Given the description of an element on the screen output the (x, y) to click on. 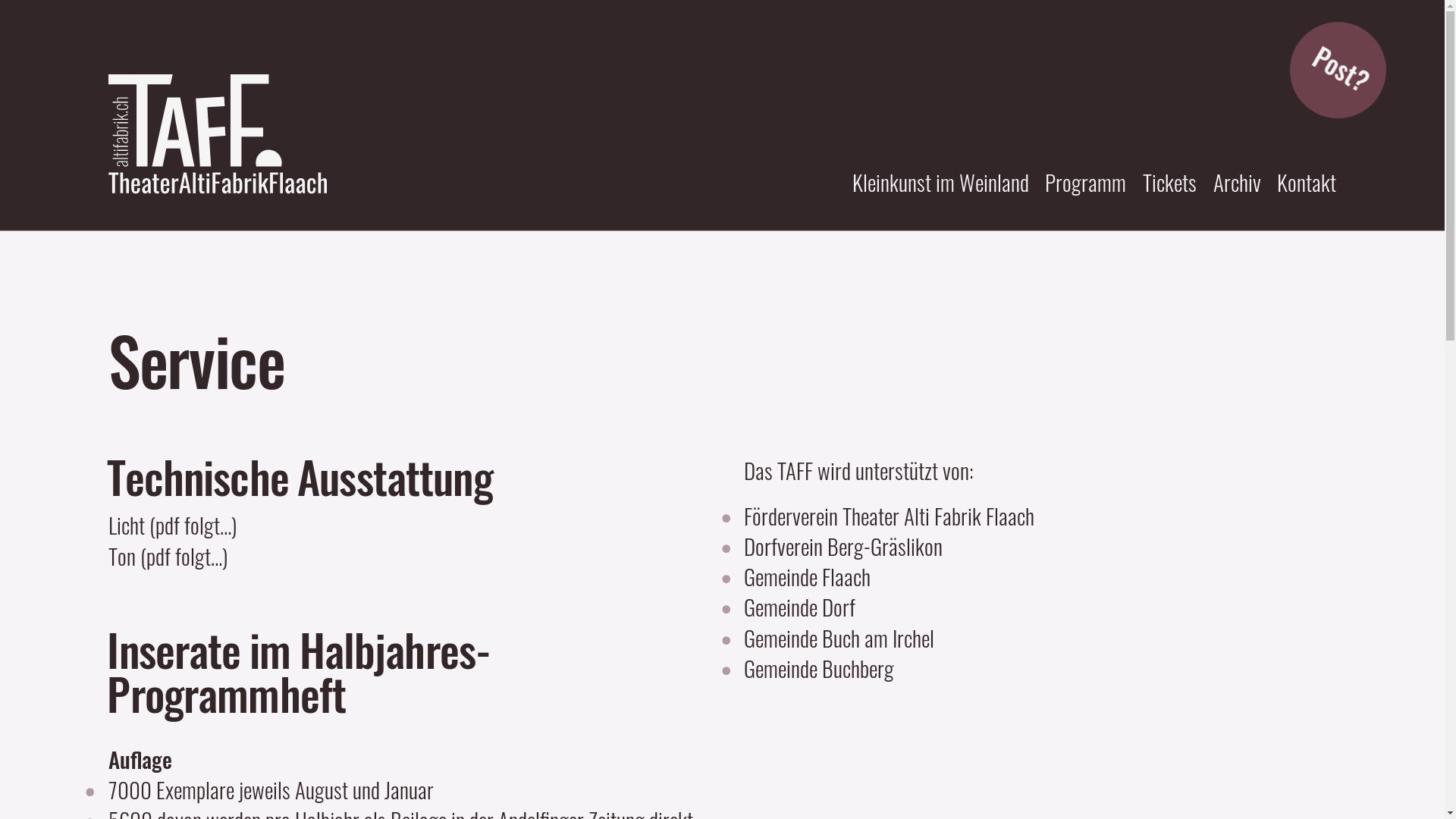
Archiv Element type: text (1237, 181)
Post? Element type: text (1329, 61)
Kontakt Element type: text (1306, 181)
Tickets Element type: text (1169, 181)
Kleinkunst im Weinland Element type: text (940, 181)
Programm Element type: text (1085, 181)
